Given the description of an element on the screen output the (x, y) to click on. 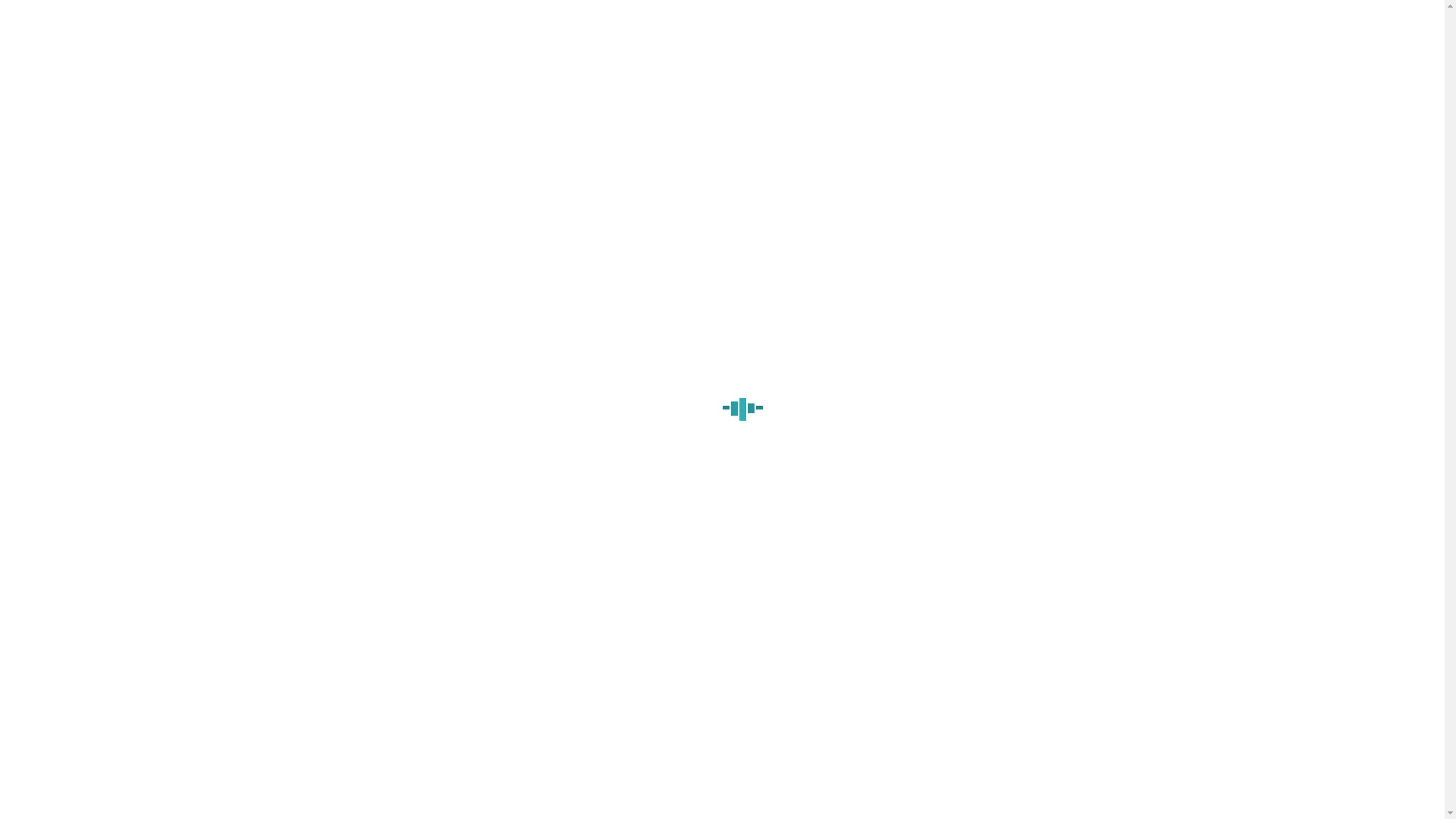
Flash Element type: text (532, 539)
WordPress Element type: text (698, 539)
